Given the description of an element on the screen output the (x, y) to click on. 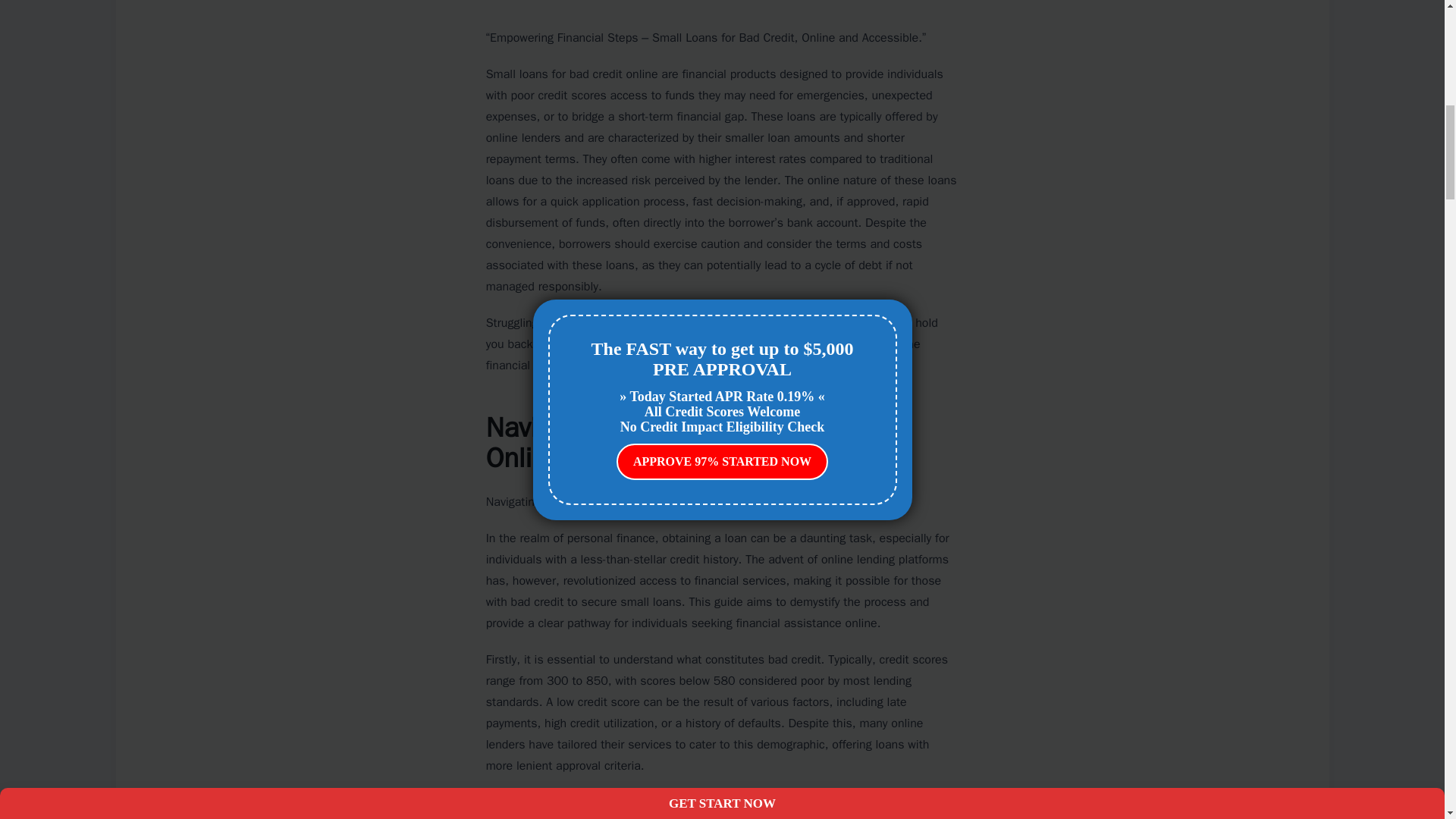
personalloansonlineinstantapproval.com (775, 344)
